Given the description of an element on the screen output the (x, y) to click on. 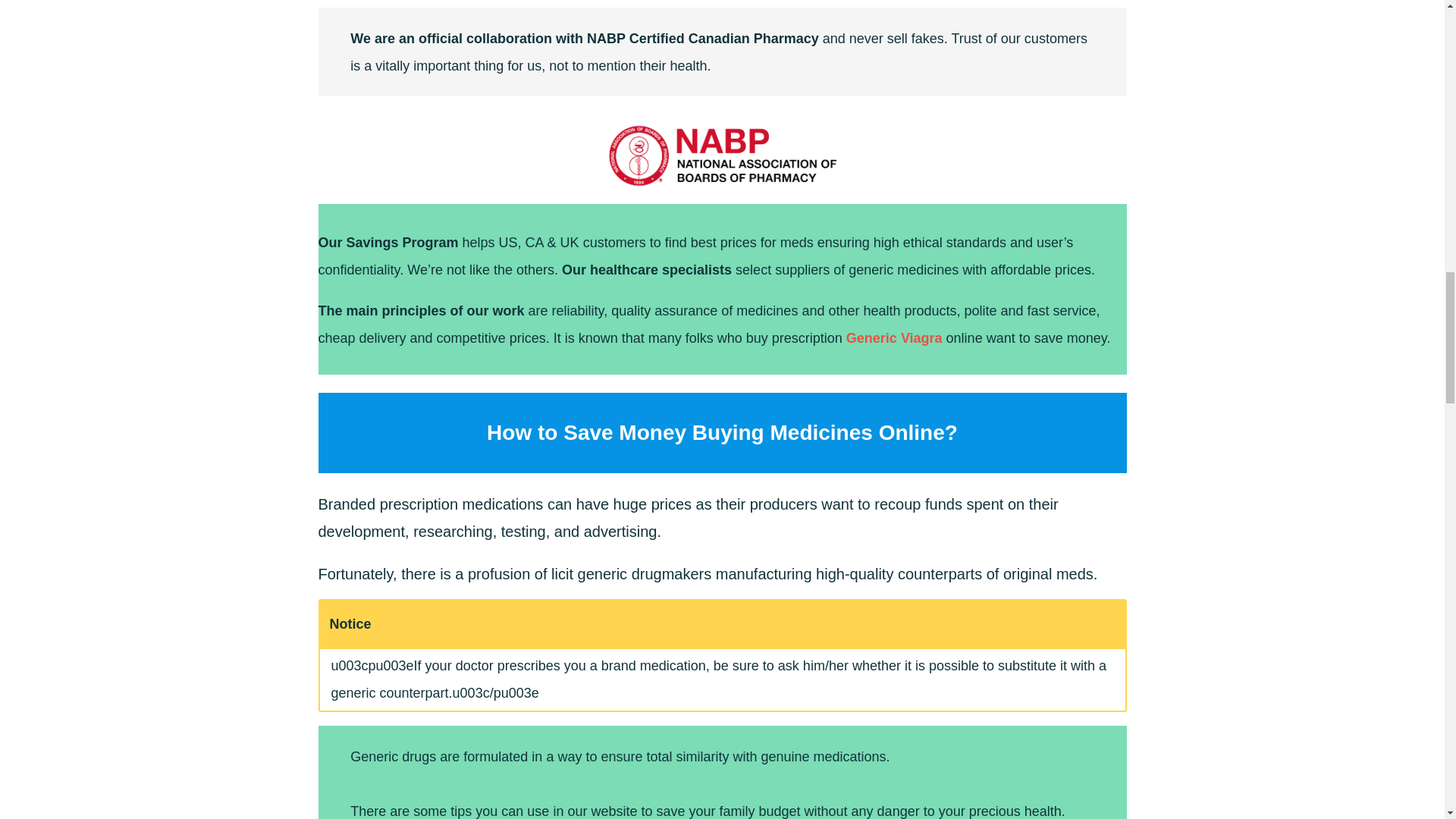
Generic Viagra (893, 337)
